Given the description of an element on the screen output the (x, y) to click on. 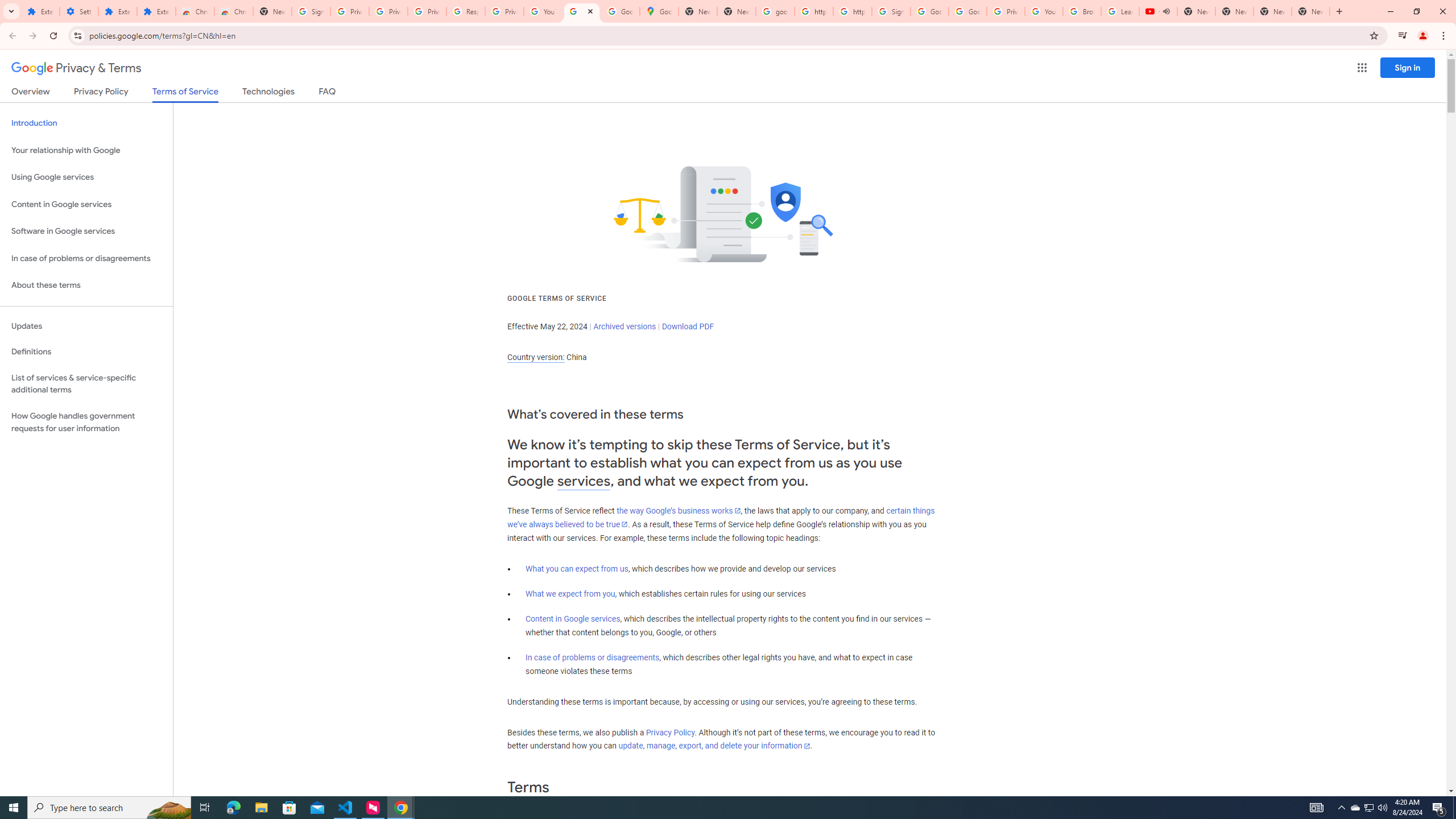
Definitions (86, 352)
List of services & service-specific additional terms (86, 383)
Chrome Web Store - Themes (233, 11)
Extensions (156, 11)
services (583, 480)
https://scholar.google.com/ (813, 11)
Sign in - Google Accounts (310, 11)
New Tab (1311, 11)
